Given the description of an element on the screen output the (x, y) to click on. 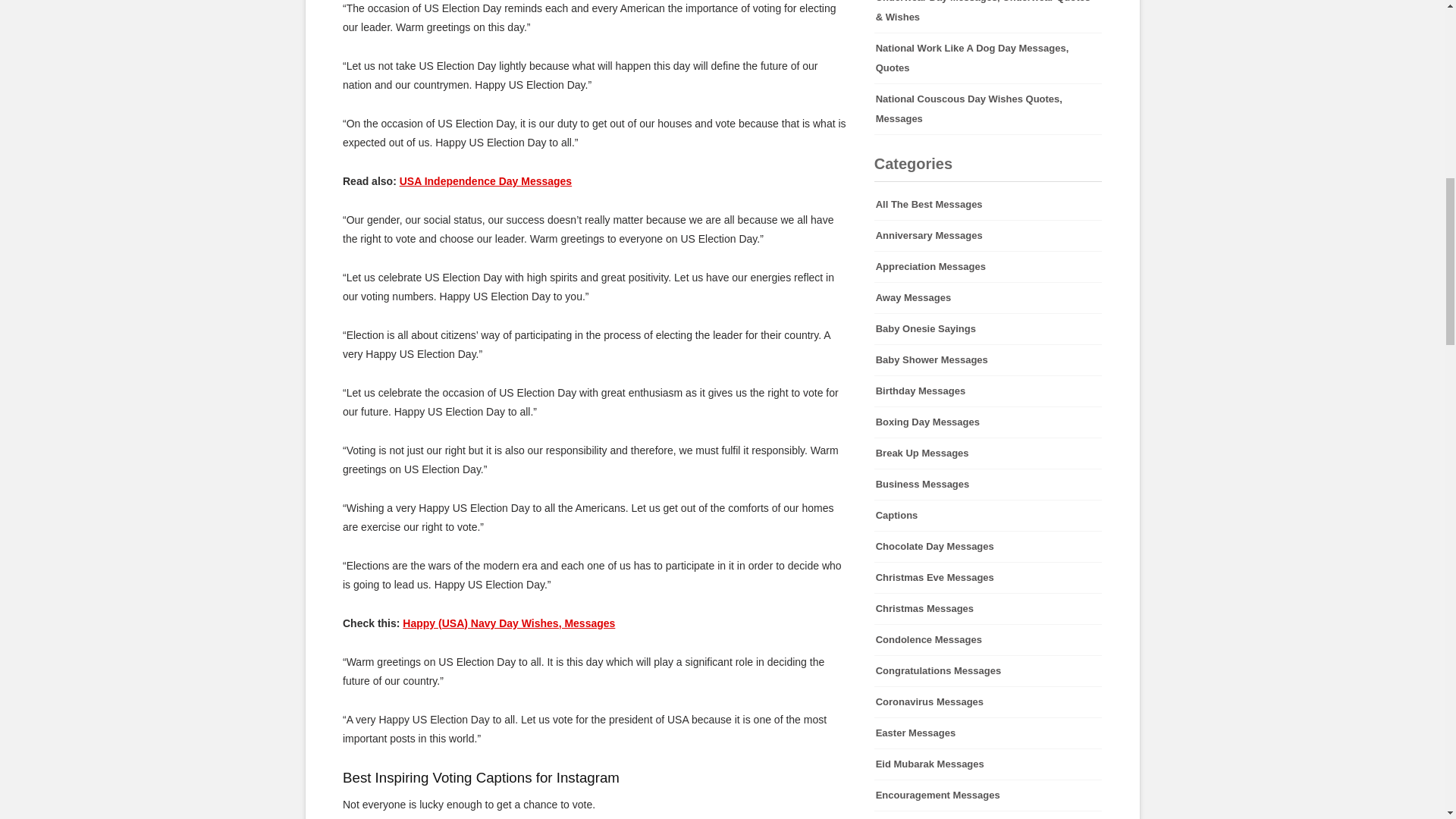
Eid Mubarak Messages (988, 764)
Christmas Messages (988, 608)
Business Messages (988, 484)
Chocolate Day Messages (988, 546)
Boxing Day Messages (988, 422)
Baby Onesie Sayings (988, 328)
Condolence Messages (988, 639)
Coronavirus Messages (988, 702)
All The Best Messages (988, 204)
Birthday Messages (988, 390)
Anniversary Messages (988, 235)
Captions (988, 515)
National Work Like A Dog Day Messages, Quotes (988, 58)
Congratulations Messages (988, 671)
Away Messages (988, 297)
